Given the description of an element on the screen output the (x, y) to click on. 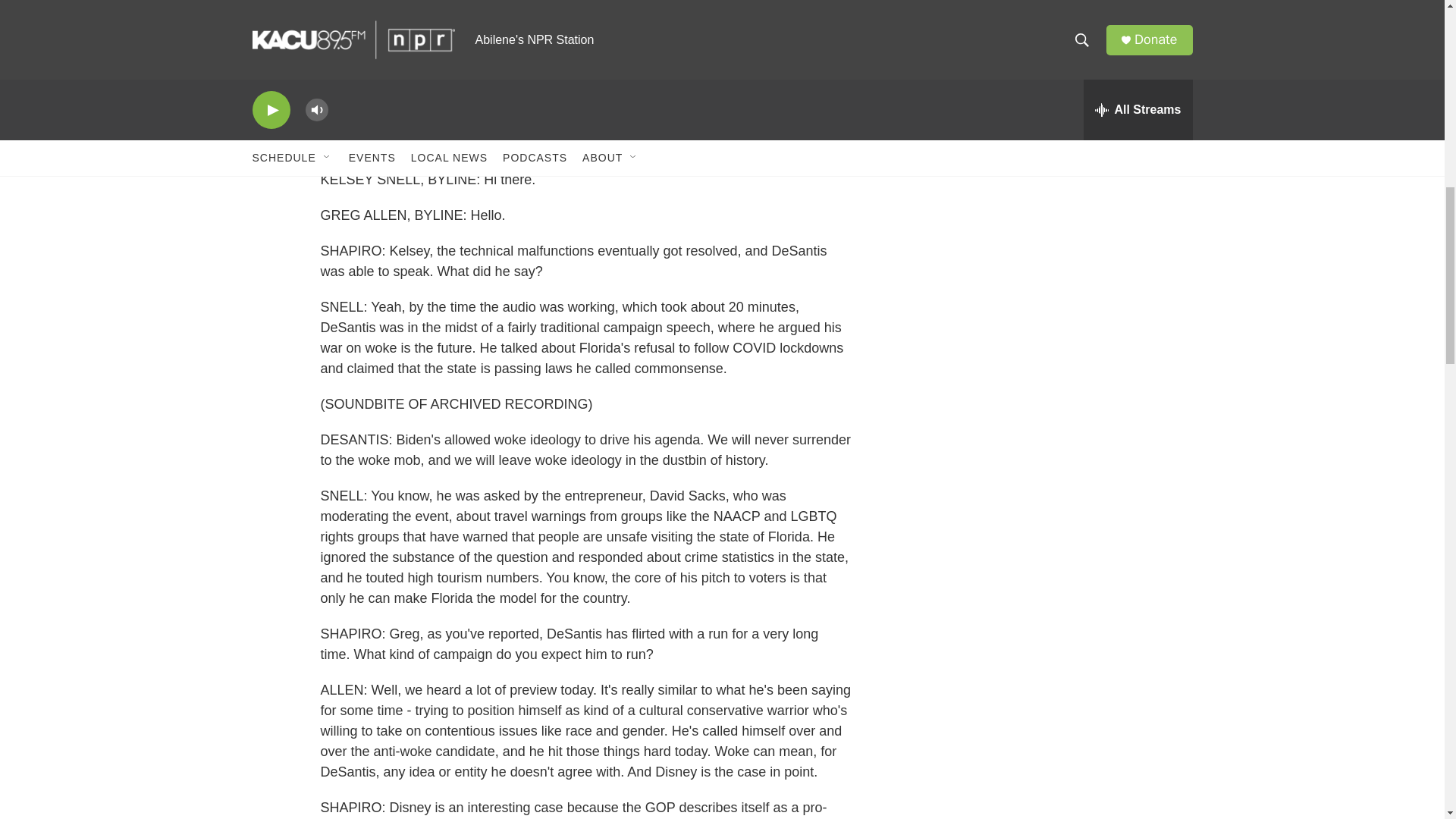
3rd party ad content (1062, 208)
